Given the description of an element on the screen output the (x, y) to click on. 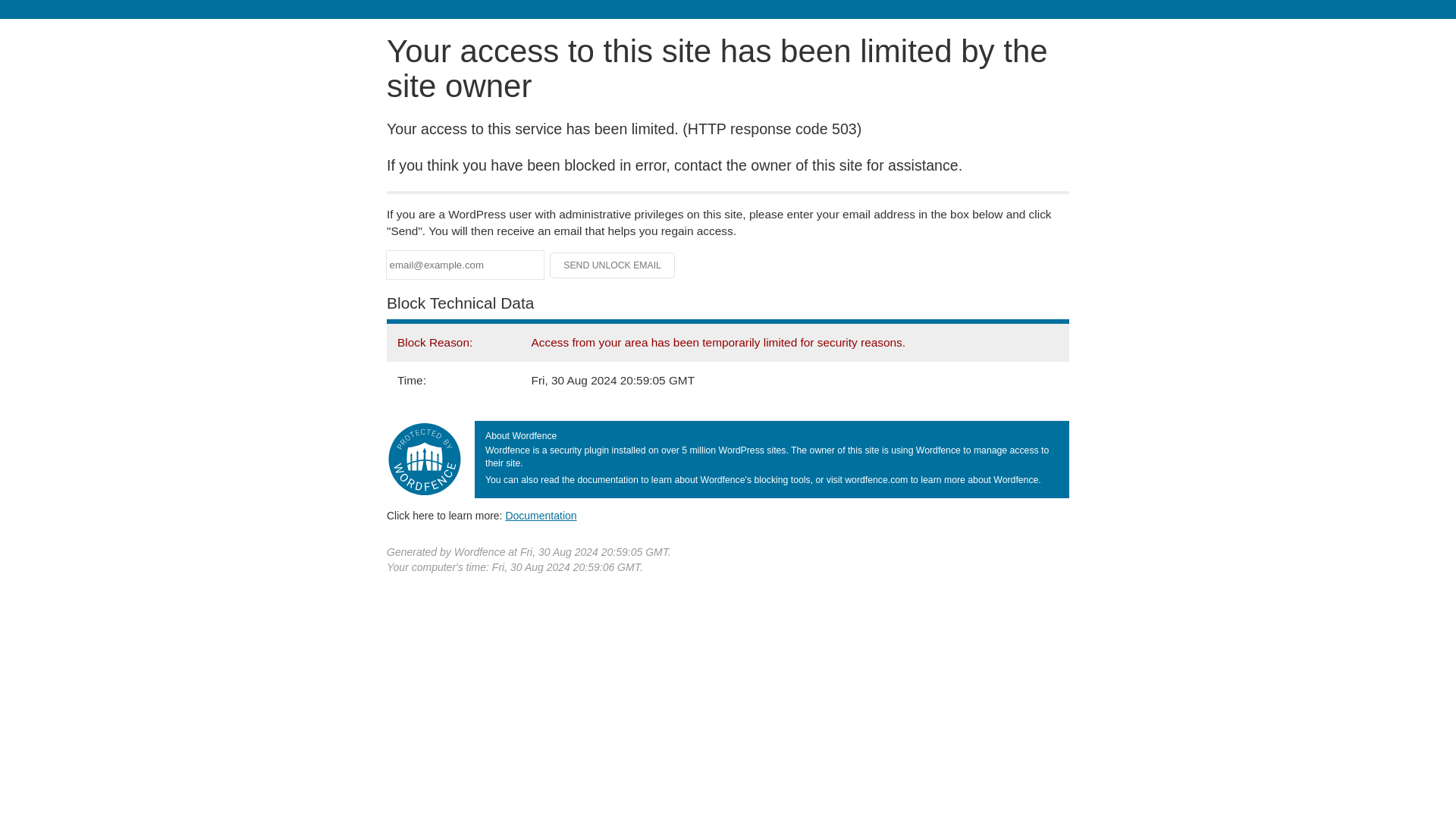
Send Unlock Email (612, 265)
Documentation (540, 515)
Send Unlock Email (612, 265)
